Given the description of an element on the screen output the (x, y) to click on. 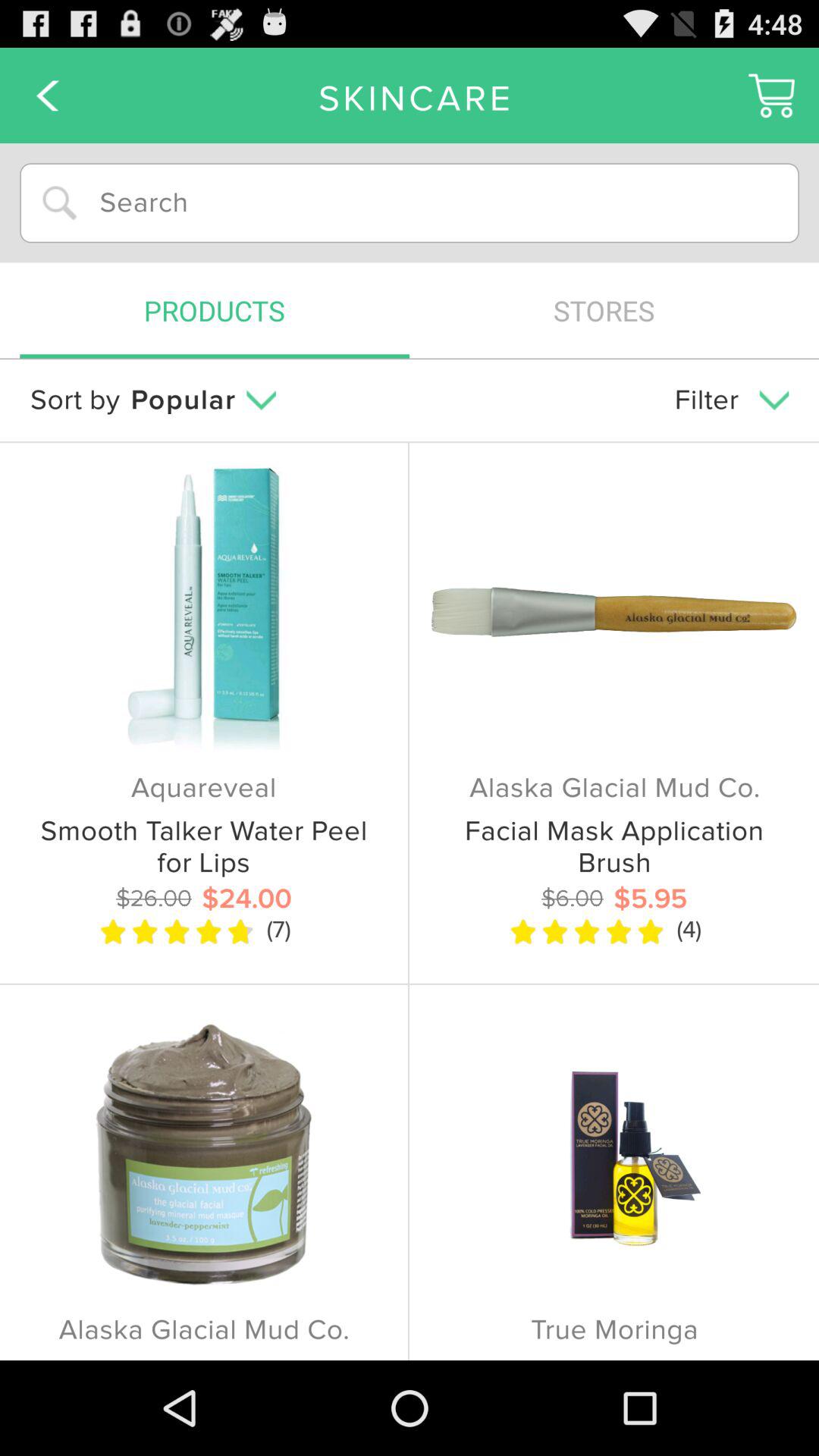
select the icon above products (409, 202)
